Given the description of an element on the screen output the (x, y) to click on. 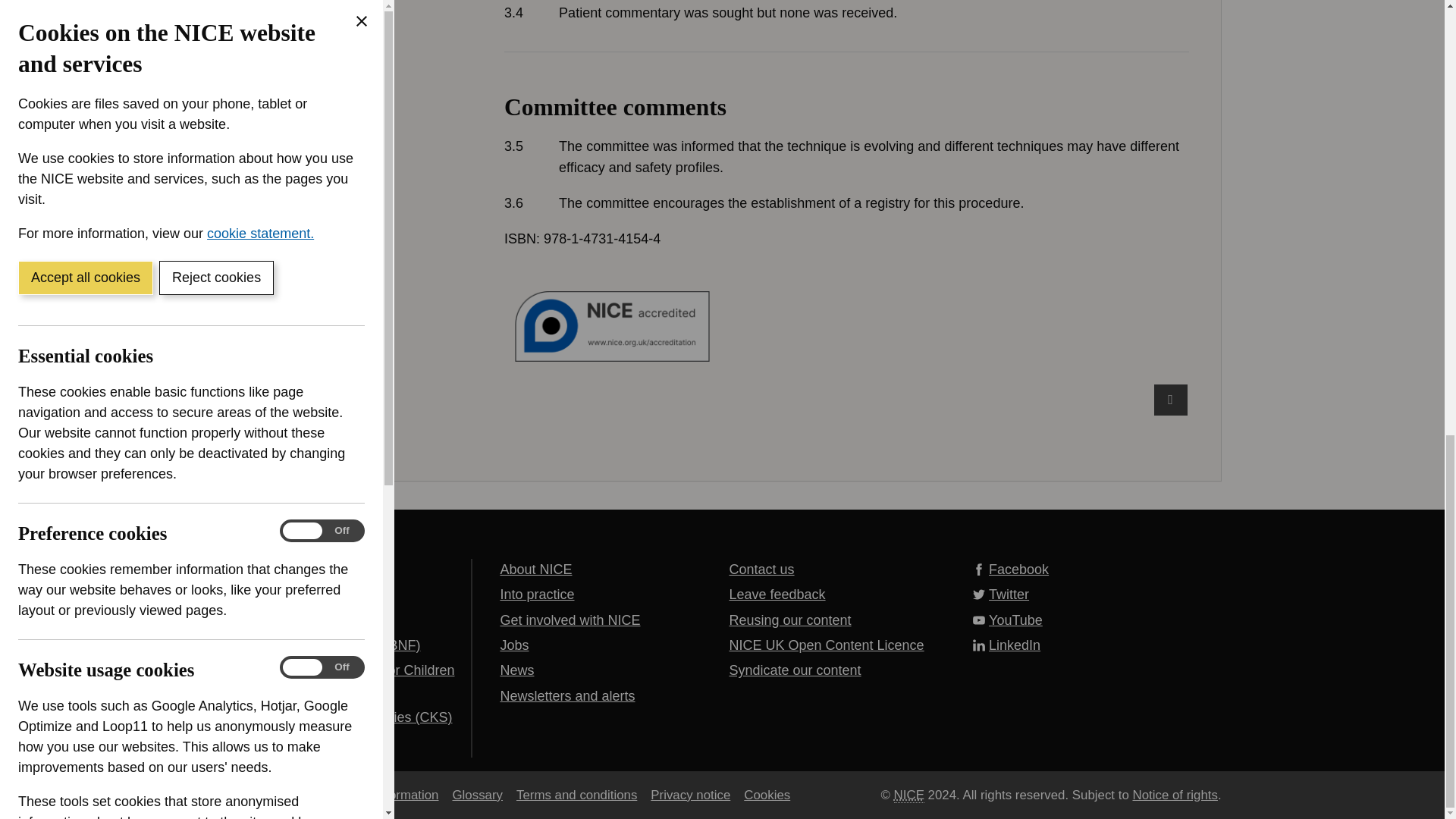
National Institute for Health and Care Excellence (908, 795)
Show vendors within this category (130, 312)
The evidence (845, 12)
